Given the description of an element on the screen output the (x, y) to click on. 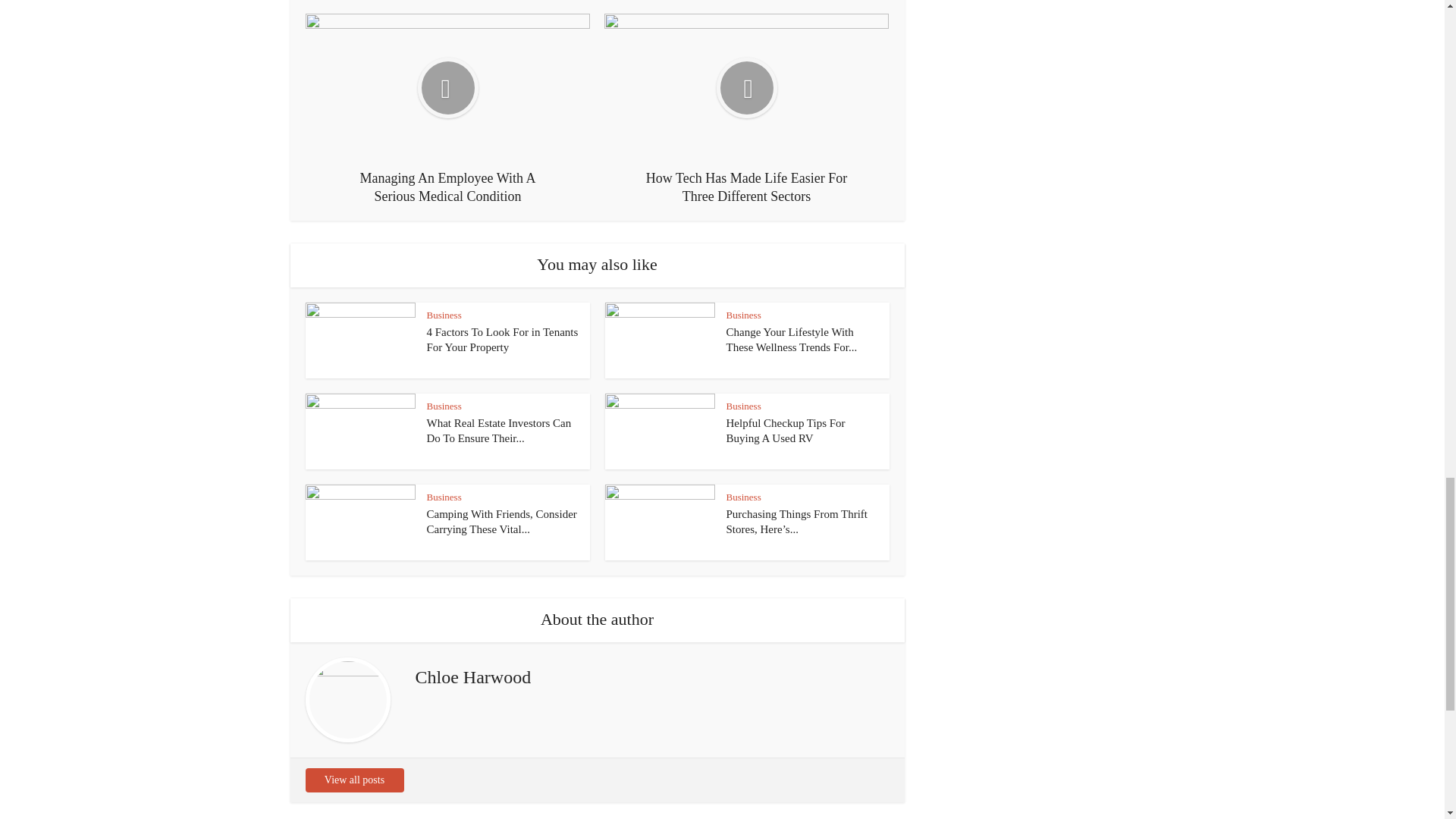
How Tech Has Made Life Easier For Three Different Sectors (746, 109)
Managing An Employee With A Serious Medical Condition (447, 109)
Helpful Checkup Tips For Buying A Used RV (785, 430)
Helpful Checkup Tips For Buying A Used RV (785, 430)
Business (743, 405)
4 Factors To Look For in Tenants For Your Property (502, 338)
Camping With Friends, Consider Carrying These Vital... (501, 521)
Business (443, 405)
Business (443, 496)
Business (743, 315)
Business (743, 496)
Change Your Lifestyle With These Wellness Trends For... (791, 338)
What Real Estate Investors Can Do To Ensure Their... (498, 430)
